Given the description of an element on the screen output the (x, y) to click on. 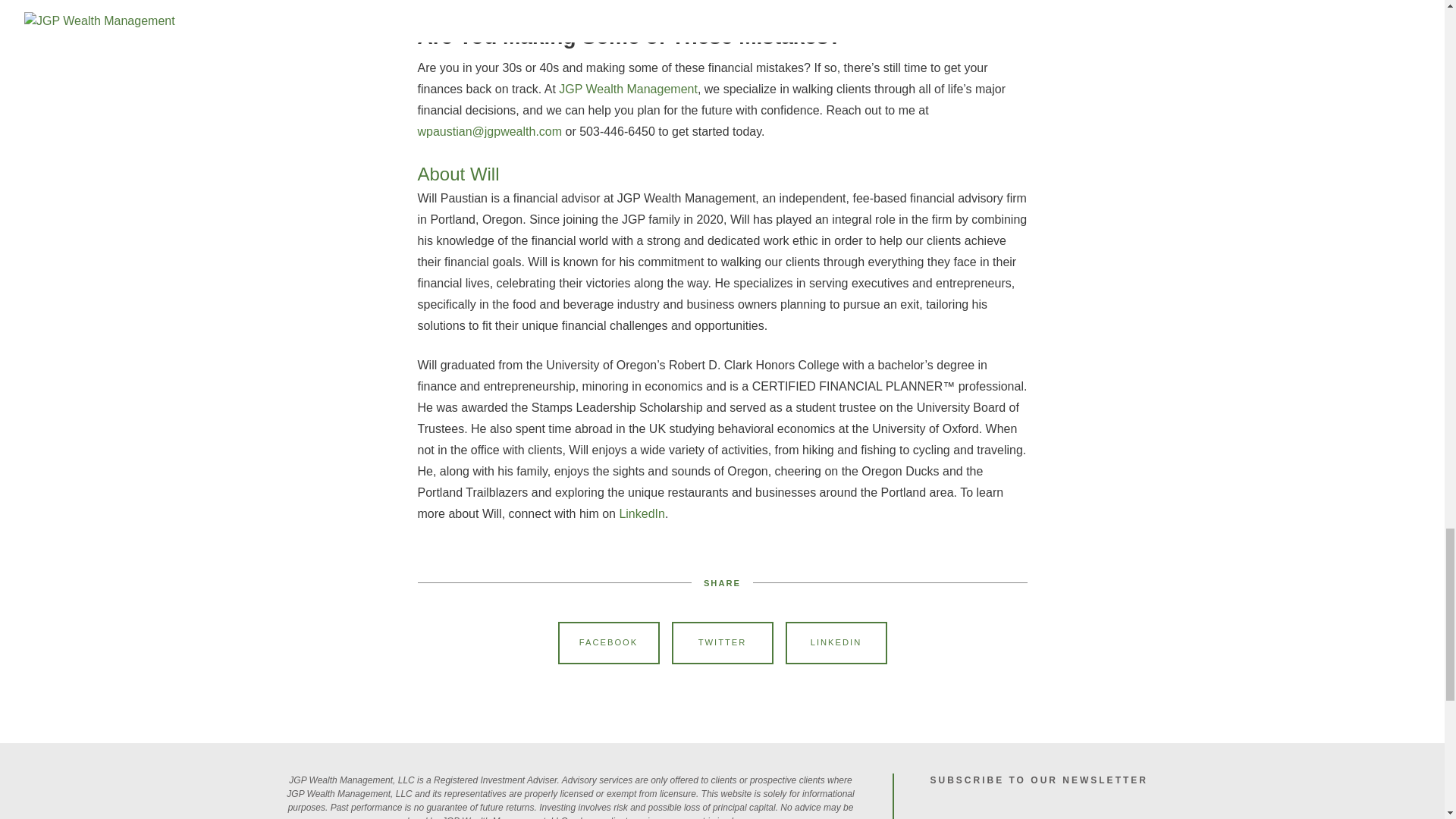
TWITTER (722, 642)
LINKEDIN (836, 642)
JGP Wealth Management (628, 88)
FACEBOOK (608, 642)
LinkedIn (641, 513)
